Given the description of an element on the screen output the (x, y) to click on. 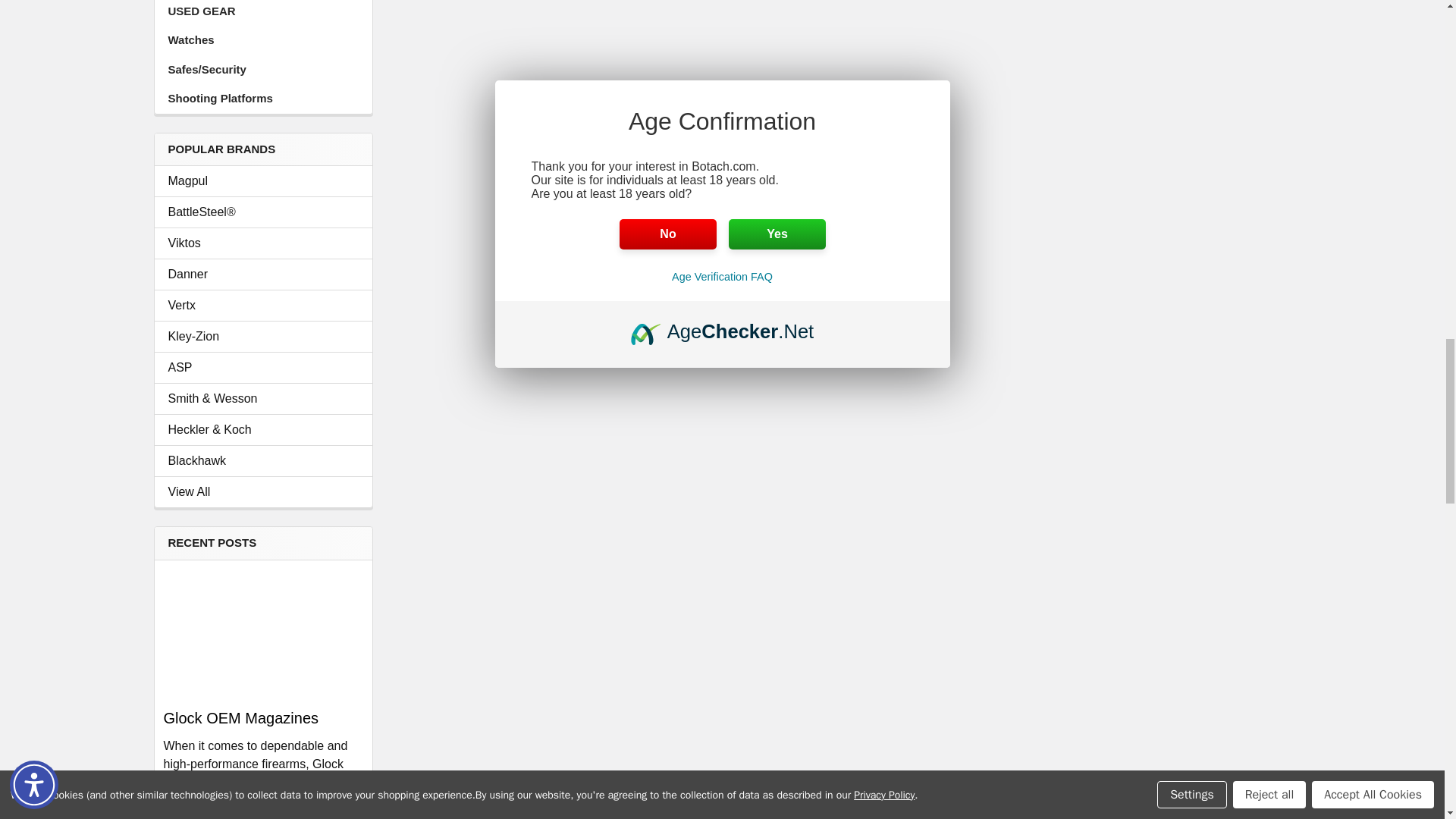
Danner (263, 274)
ASP (263, 367)
Magpul (263, 180)
Vertx (263, 305)
Glock OEM Magazines (262, 632)
Viktos (263, 243)
Blackhawk (263, 461)
Kley-Zion (263, 336)
